Given the description of an element on the screen output the (x, y) to click on. 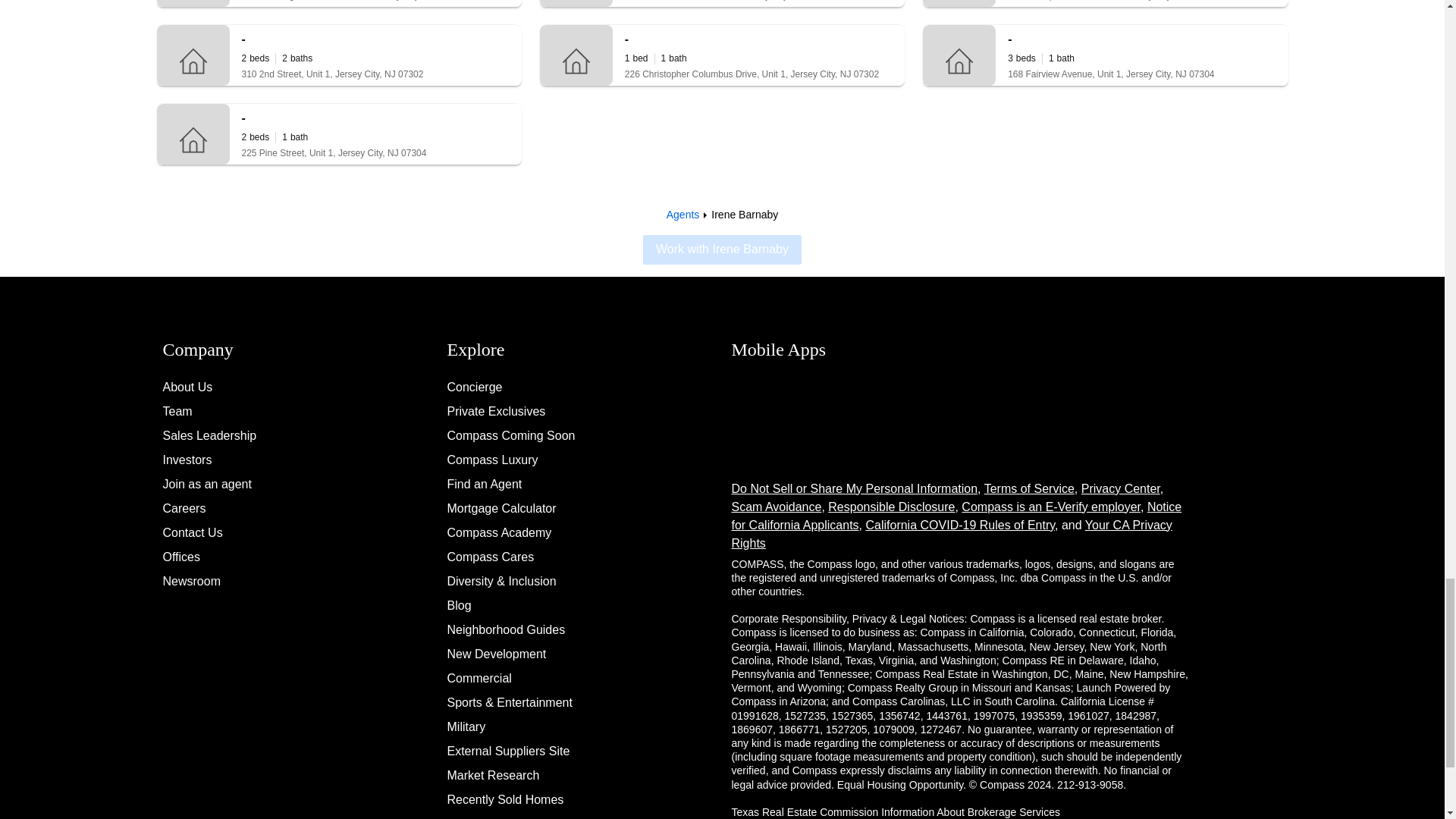
Instagram (1272, 343)
Twitter (1272, 414)
Facebook (1272, 378)
